Given the description of an element on the screen output the (x, y) to click on. 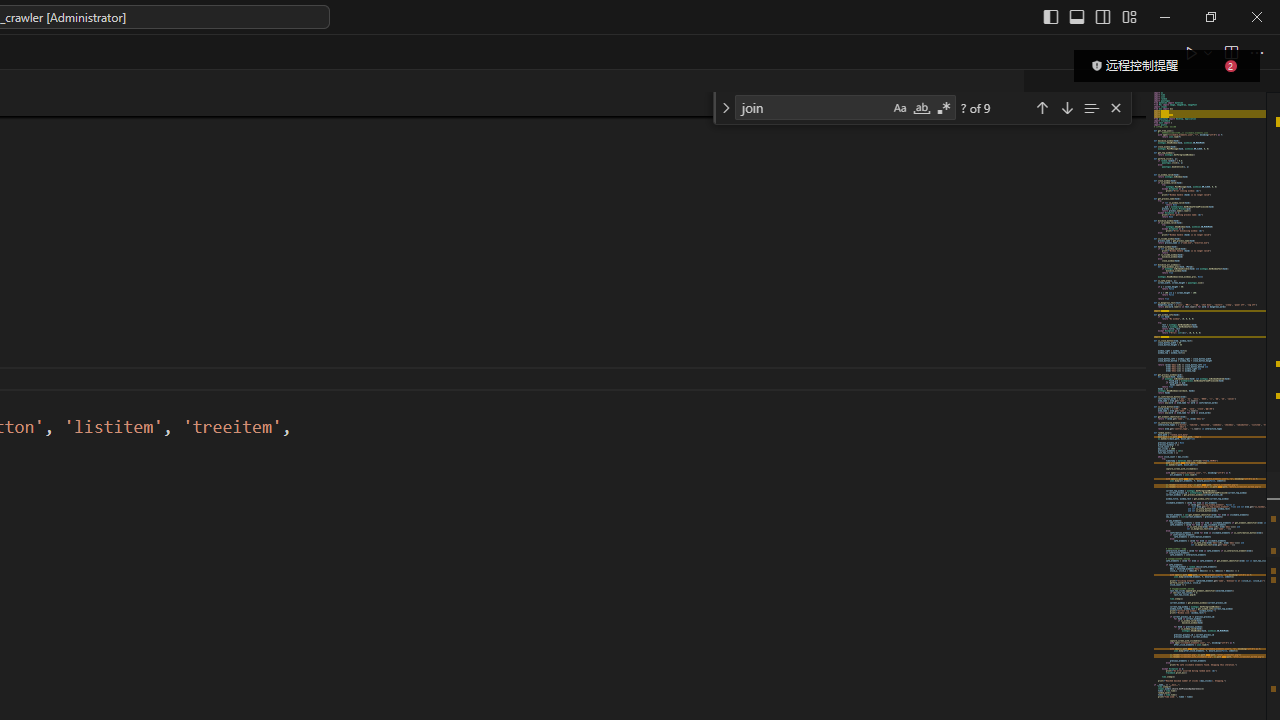
Customize Layout... (1128, 16)
Next Match (Enter) (1066, 106)
Toggle Primary Side Bar (Ctrl+B) (1050, 16)
Match Case (Alt+C) (899, 107)
Title actions (1089, 16)
Use Regular Expression (Alt+R) (943, 107)
Match Whole Word (Alt+W) (921, 107)
Toggle Panel (Ctrl+J) (1077, 16)
Find in Selection (Alt+L) (1091, 106)
Find (812, 106)
Toggle Replace (725, 107)
Editor actions (1226, 52)
